Given the description of an element on the screen output the (x, y) to click on. 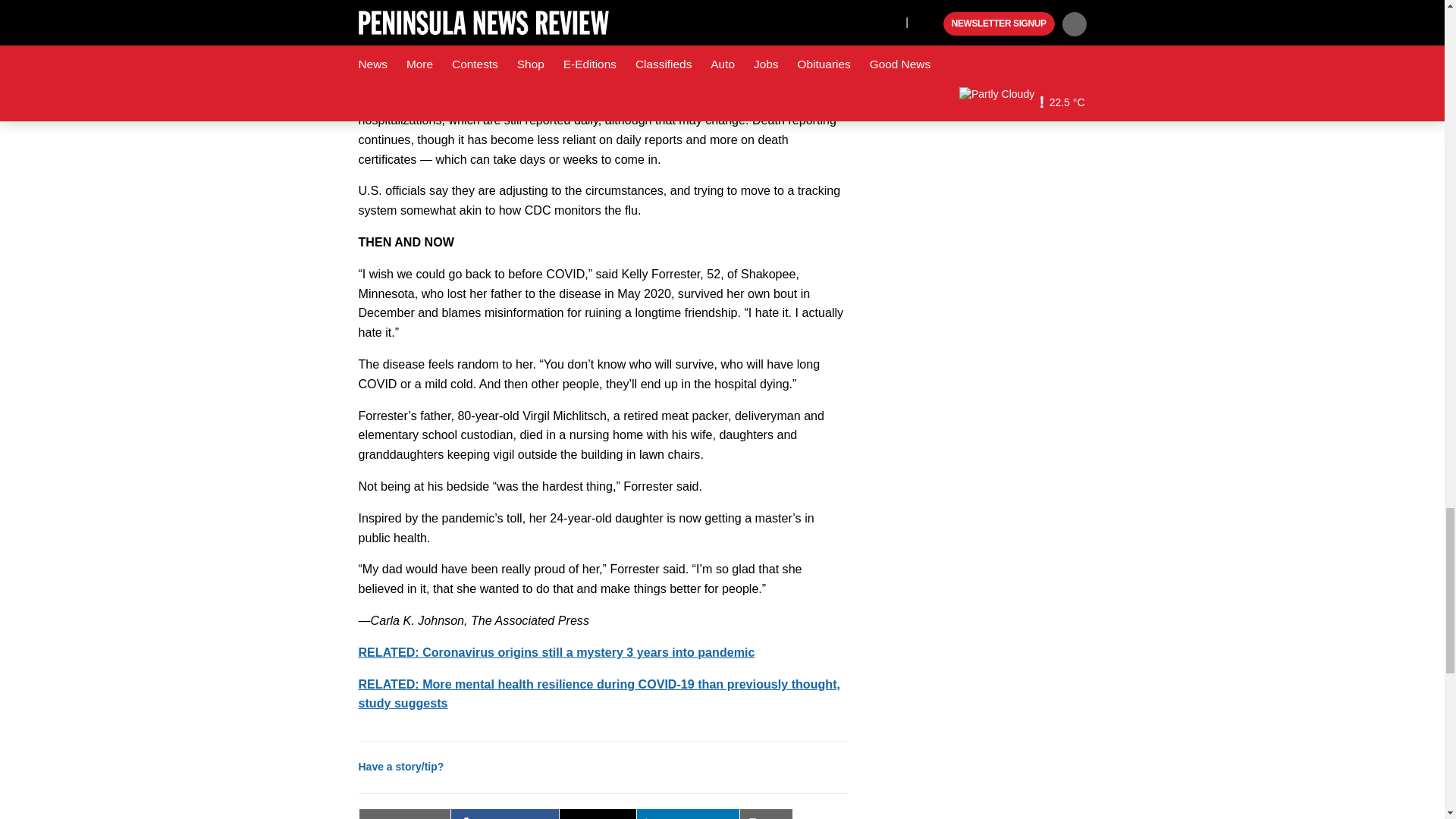
related story (599, 693)
related story (556, 652)
